Given the description of an element on the screen output the (x, y) to click on. 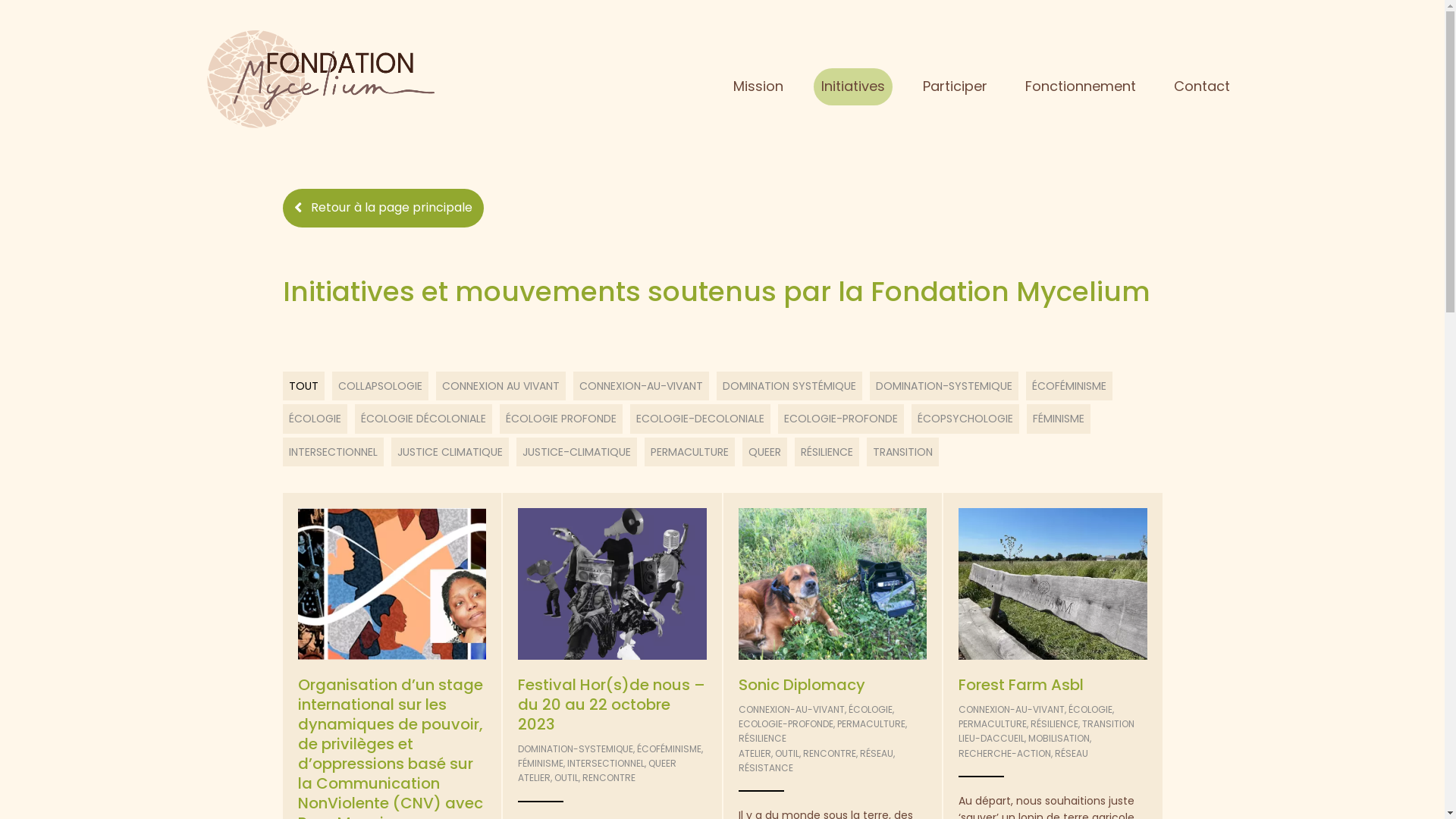
ATELIER Element type: text (754, 752)
DOMINATION-SYSTEMIQUE Element type: text (575, 748)
Contact Element type: text (1201, 86)
CONNEXION-AU-VIVANT Element type: text (1011, 708)
Mission Element type: text (757, 86)
CONNEXION-AU-VIVANT Element type: text (791, 708)
INTERSECTIONNEL Element type: text (605, 762)
ECOLOGIE-PROFONDE Element type: text (785, 723)
RENCONTRE Element type: text (608, 777)
PERMACULTURE Element type: text (992, 723)
RECHERCHE-ACTION Element type: text (1004, 752)
PERMACULTURE Element type: text (871, 723)
Sonic Diplomacy Element type: text (801, 684)
Forest Farm Asbl Element type: text (1020, 684)
MOBILISATION Element type: text (1058, 737)
OUTIL Element type: text (787, 752)
Initiatives Element type: text (852, 86)
Participer Element type: text (954, 86)
LIEU-DACCUEIL Element type: text (991, 737)
Fonctionnement Element type: text (1080, 86)
Mycelium-Logo_72dpi Element type: hover (319, 79)
RENCONTRE Element type: text (828, 752)
QUEER Element type: text (662, 762)
ATELIER Element type: text (533, 777)
TRANSITION Element type: text (1108, 723)
OUTIL Element type: text (566, 777)
